Given the description of an element on the screen output the (x, y) to click on. 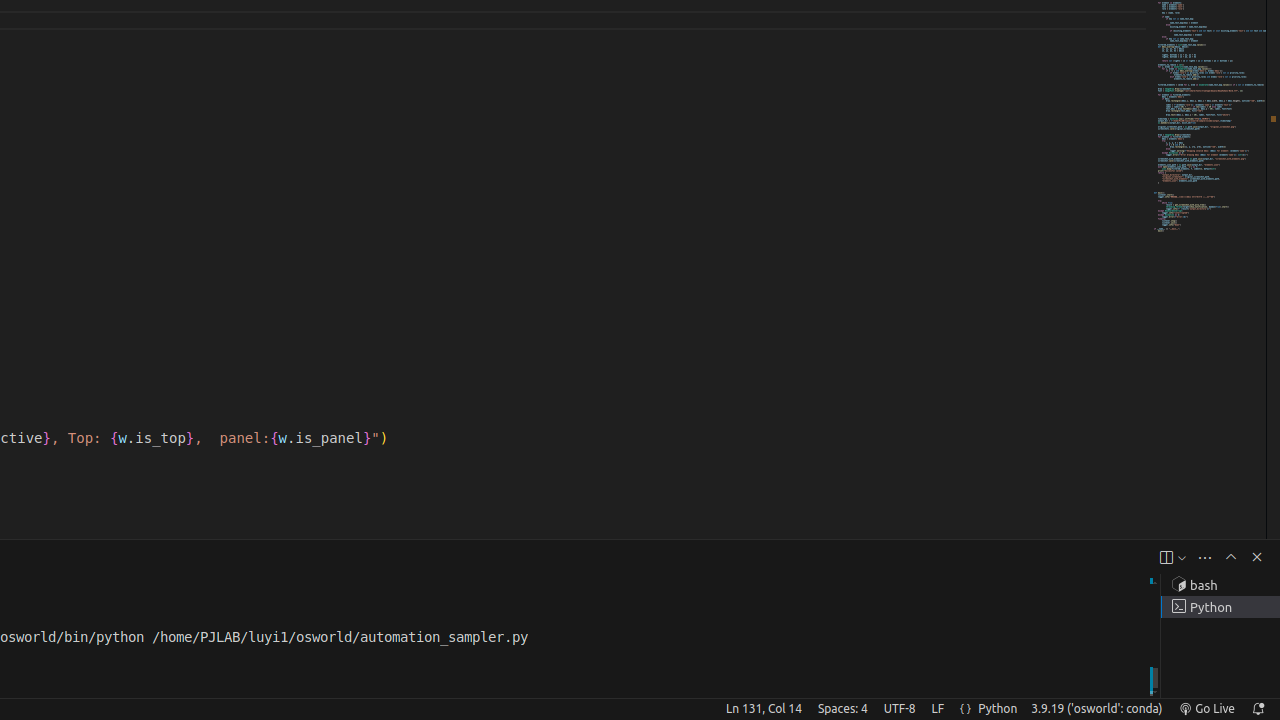
Ln 131, Col 14 Element type: push-button (764, 709)
New Terminal (Ctrl+Shift+`) [Alt] Split Terminal (Ctrl+Shift+5) Element type: push-button (1166, 557)
Notifications Element type: push-button (1258, 709)
UTF-8 Element type: push-button (899, 709)
Spaces: 4 Element type: push-button (842, 709)
